Given the description of an element on the screen output the (x, y) to click on. 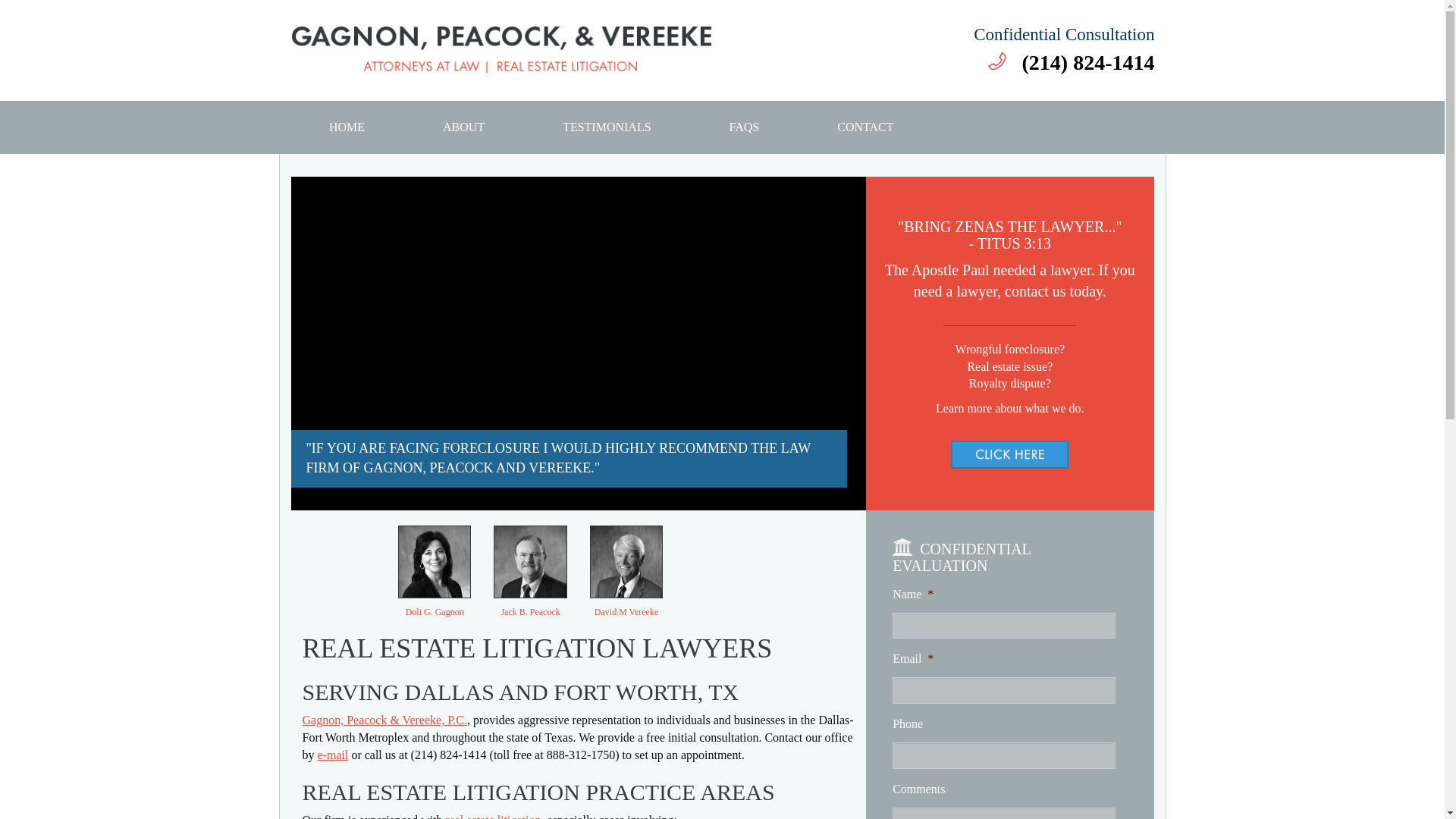
CONTACT (865, 126)
HOME (346, 126)
real estate litigation (492, 816)
Jack B. Peacock (529, 611)
FAQS (743, 126)
David M Vereeke (626, 611)
e-mail (332, 754)
TESTIMONIALS (607, 126)
Doli G. Gagnon (435, 611)
